Given the description of an element on the screen output the (x, y) to click on. 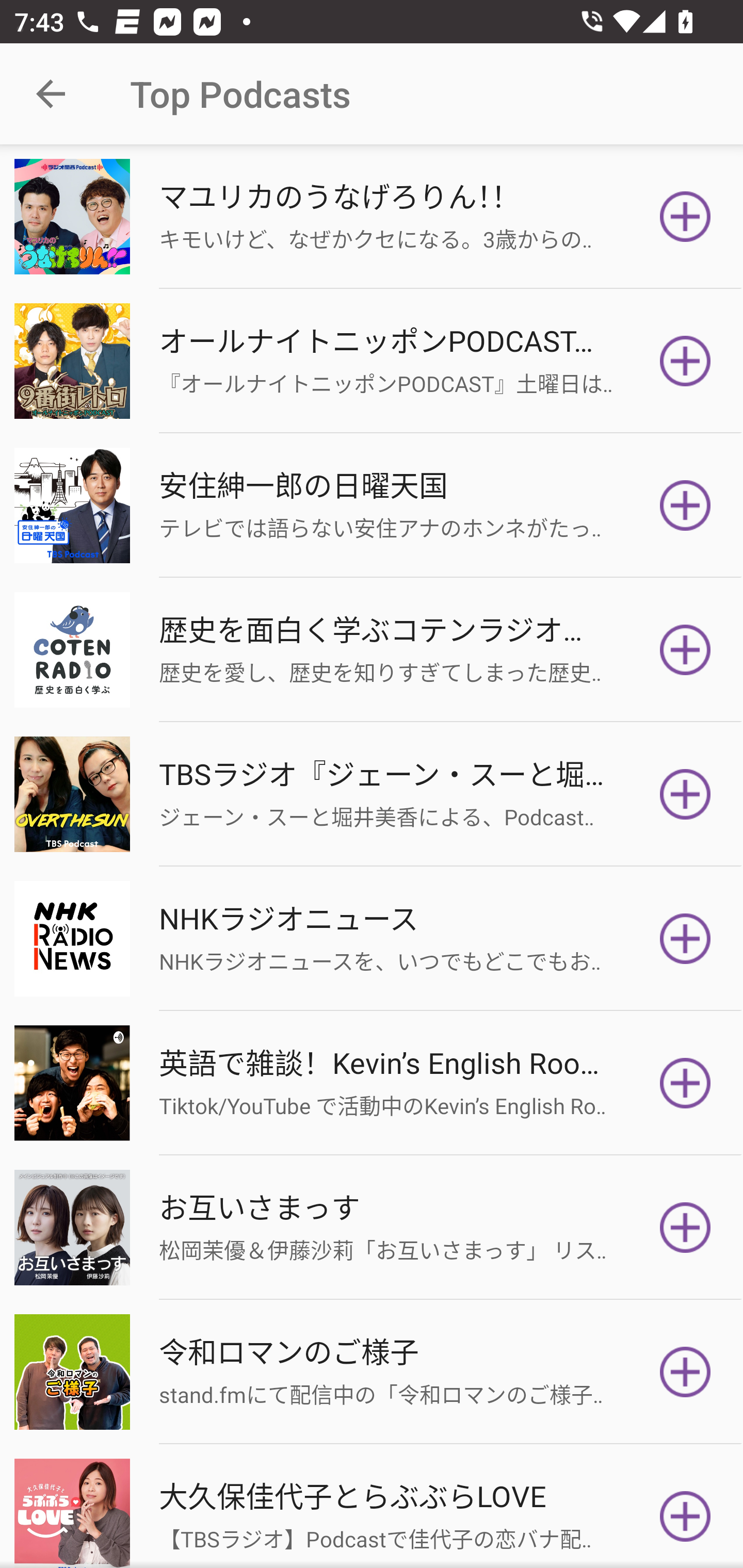
Navigate up (50, 93)
Subscribe (685, 216)
Subscribe (685, 360)
Subscribe (685, 505)
Subscribe (685, 649)
Subscribe (685, 793)
Subscribe (685, 939)
Subscribe (685, 1083)
Subscribe (685, 1227)
Subscribe (685, 1371)
Subscribe (685, 1513)
